Given the description of an element on the screen output the (x, y) to click on. 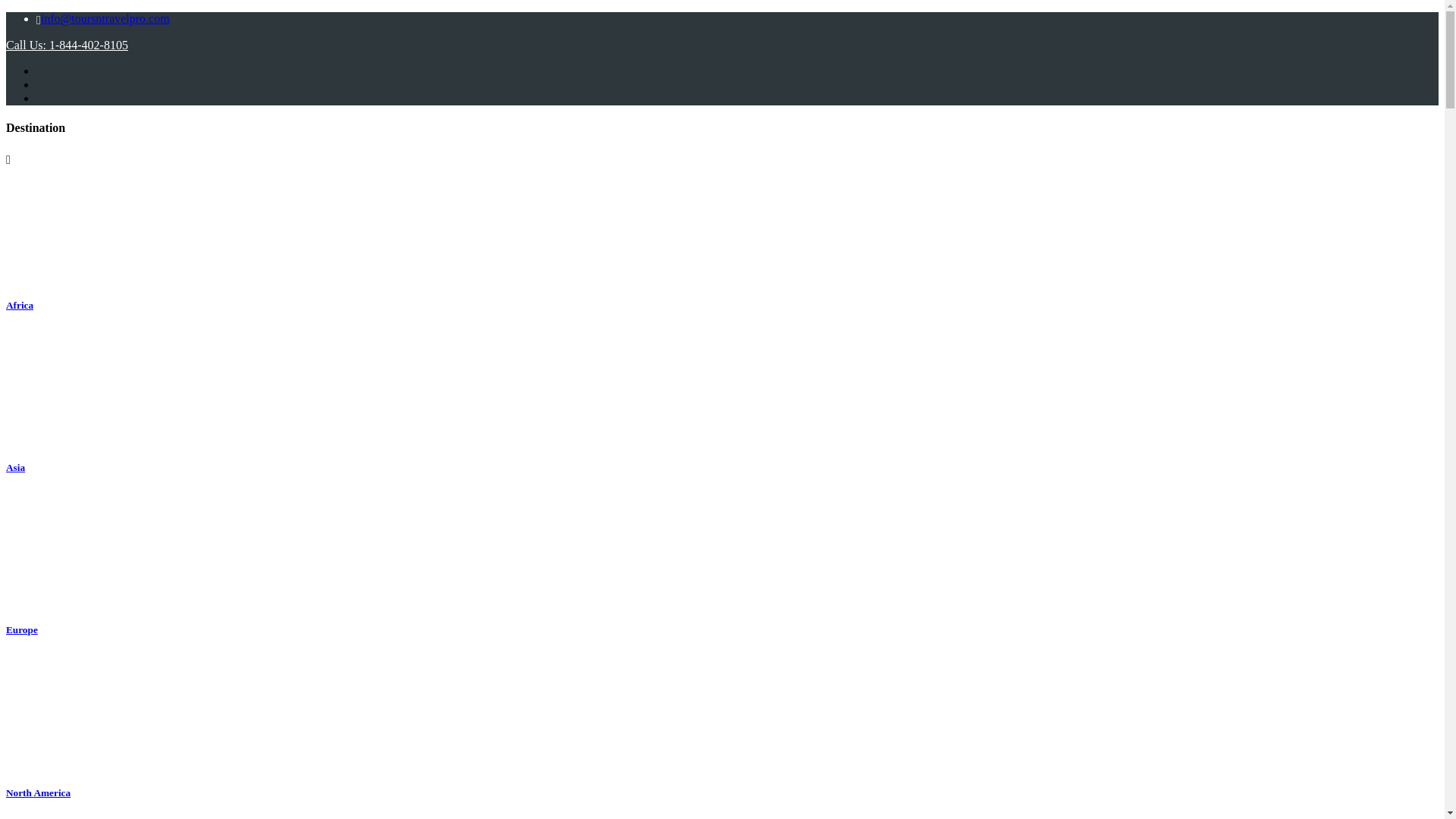
Call Us: 1-844-402-8105 (66, 44)
